Given the description of an element on the screen output the (x, y) to click on. 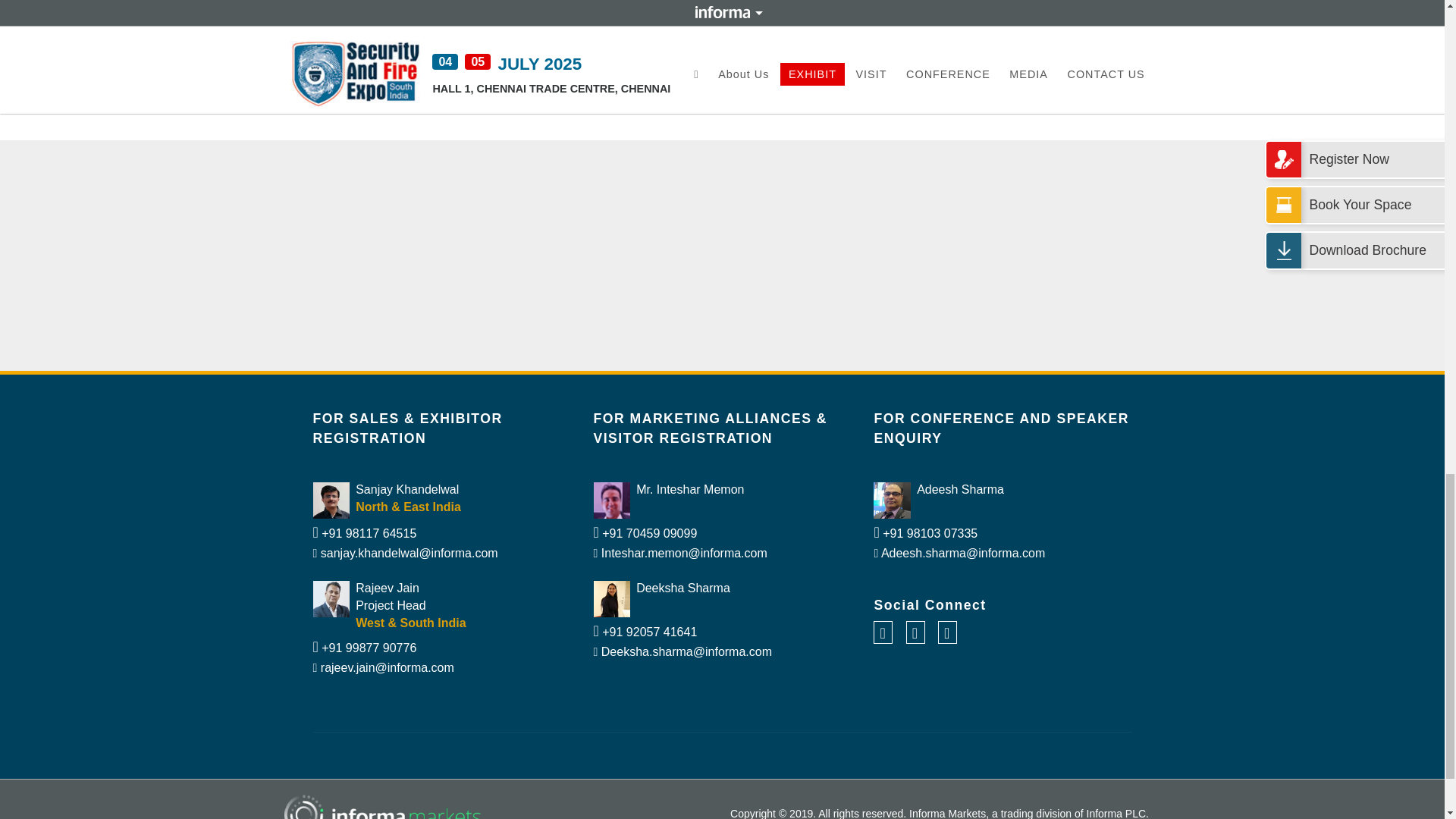
Book Your Space (722, 58)
